Given the description of an element on the screen output the (x, y) to click on. 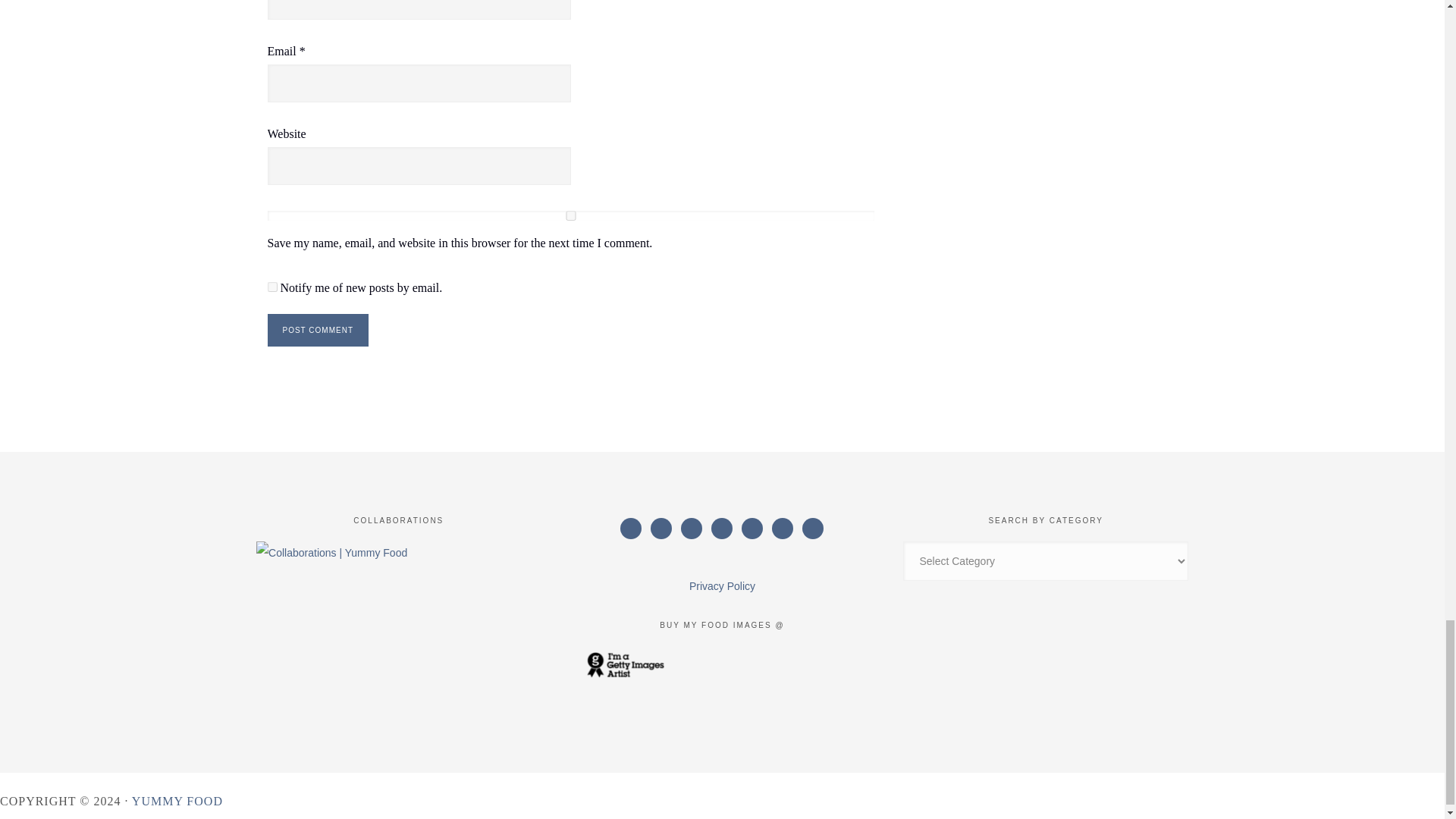
Post Comment (317, 329)
subscribe (271, 286)
Post Comment (317, 329)
yes (569, 215)
